Given the description of an element on the screen output the (x, y) to click on. 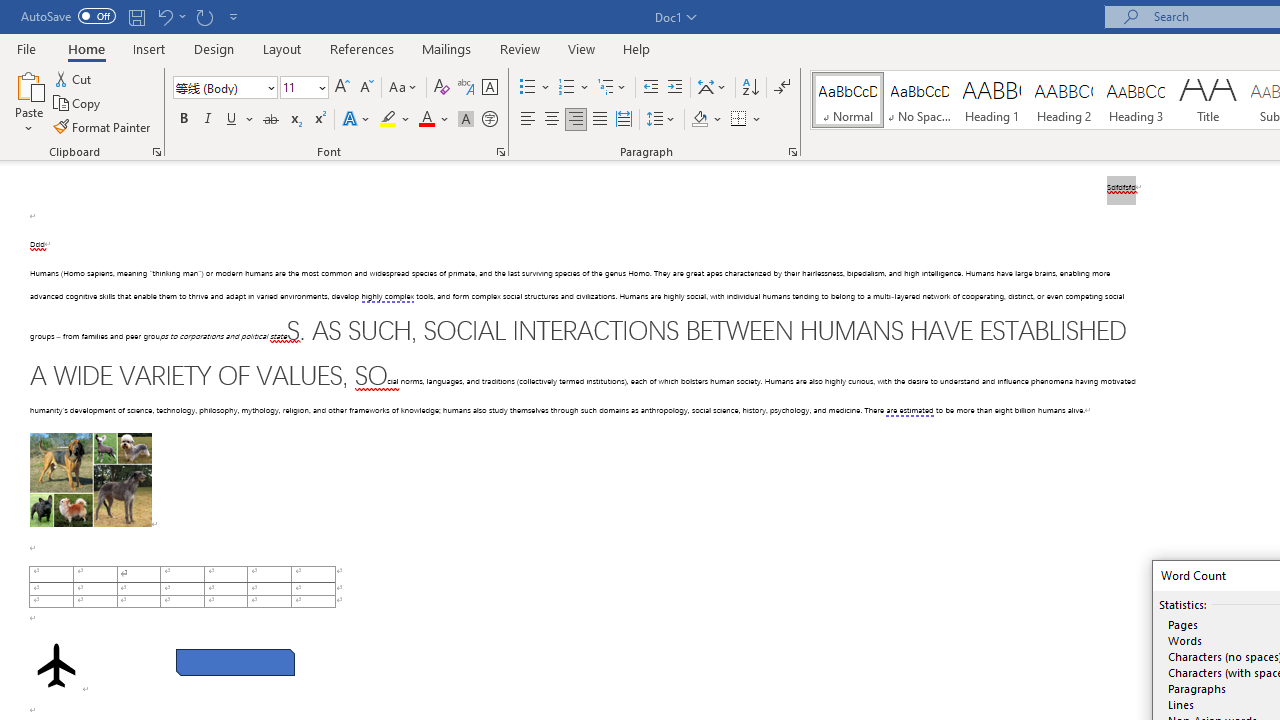
Undo Paragraph Alignment (170, 15)
Heading 1 (991, 100)
Heading 2 (1063, 100)
Morphological variation in six dogs (90, 479)
